Given the description of an element on the screen output the (x, y) to click on. 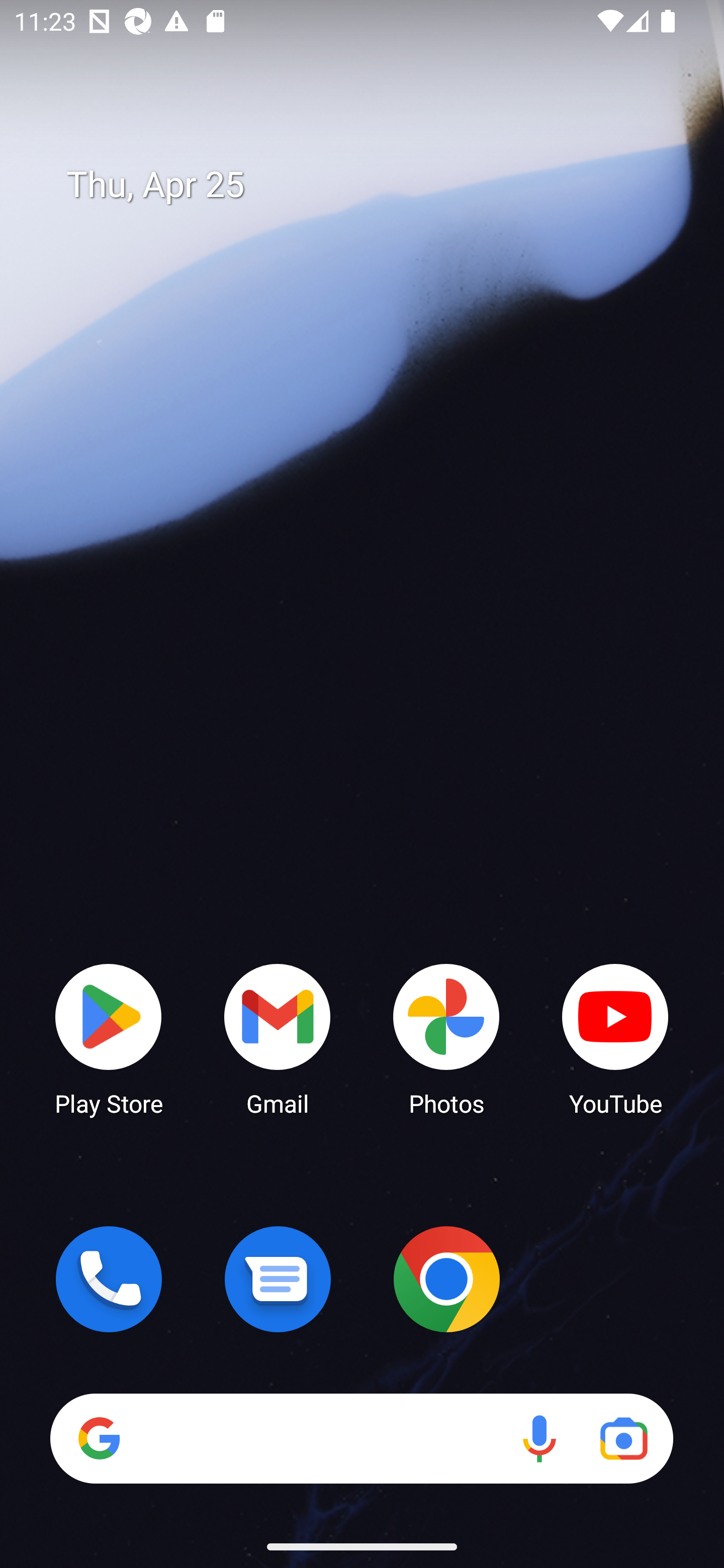
Thu, Apr 25 (375, 184)
Play Store (108, 1038)
Gmail (277, 1038)
Photos (445, 1038)
YouTube (615, 1038)
Phone (108, 1279)
Messages (277, 1279)
Chrome (446, 1279)
Search Voice search Google Lens (361, 1438)
Voice search (539, 1438)
Google Lens (623, 1438)
